Given the description of an element on the screen output the (x, y) to click on. 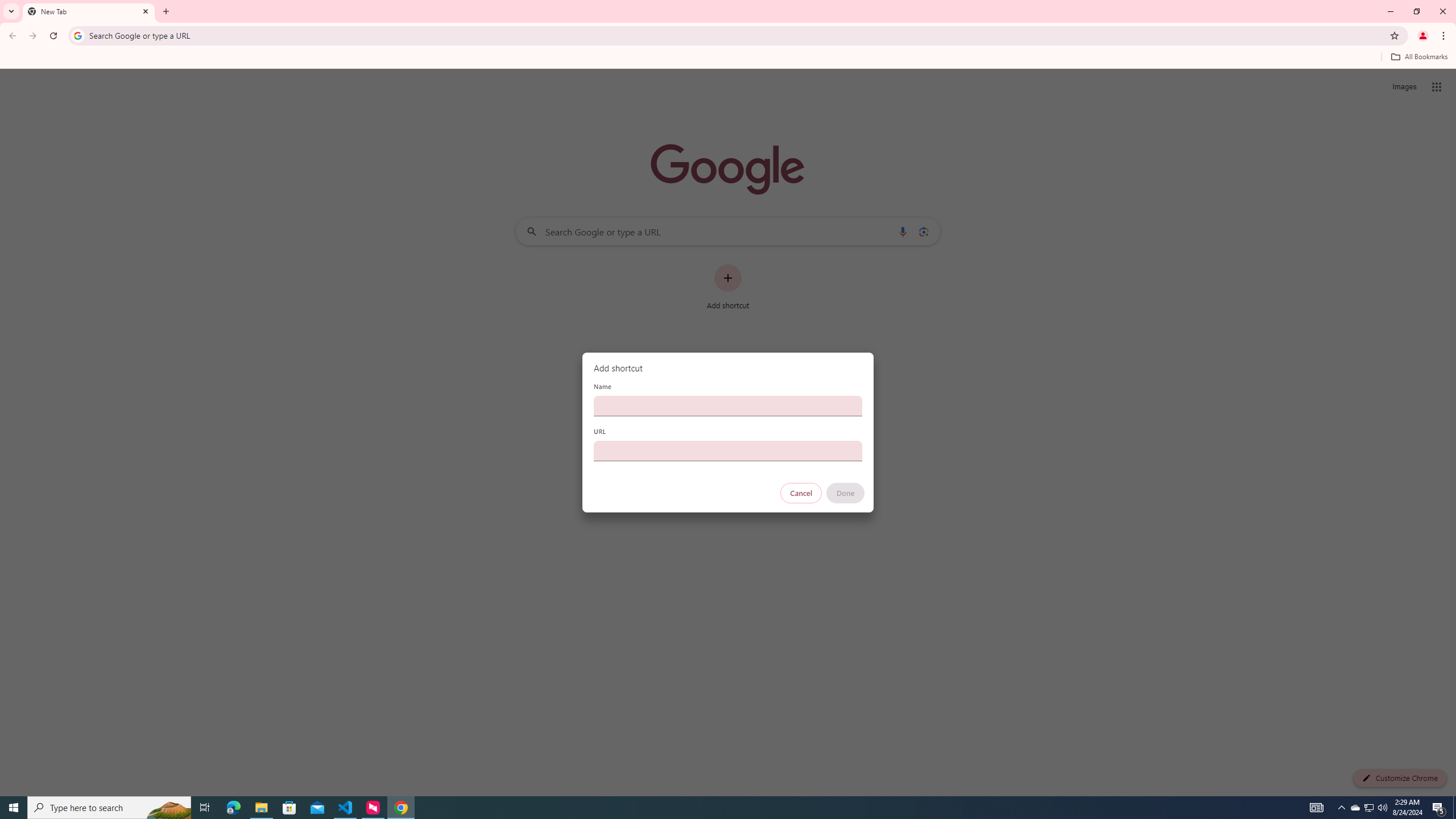
Done (845, 493)
